Given the description of an element on the screen output the (x, y) to click on. 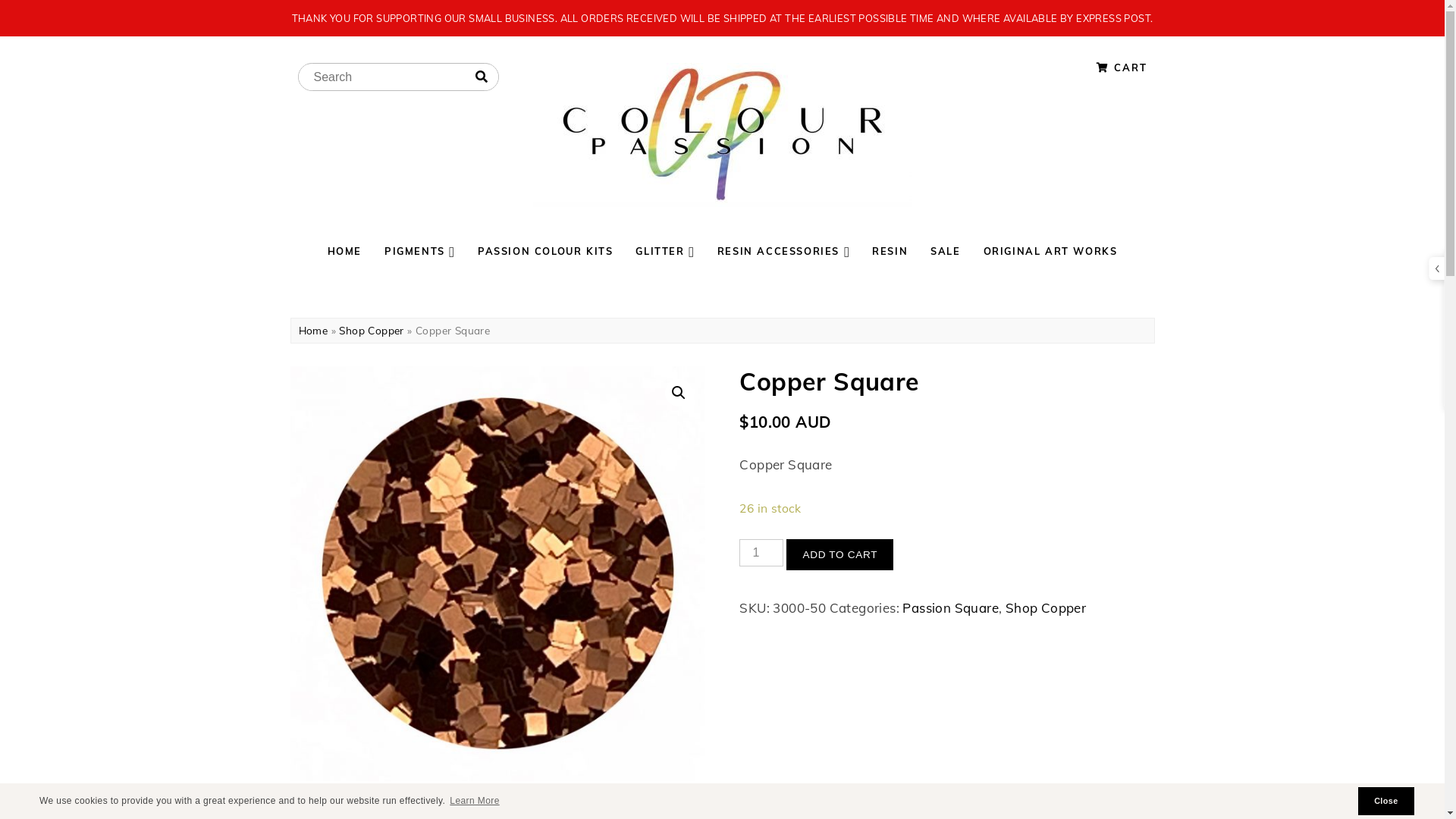
Shop Copper Element type: text (1045, 607)
Home Element type: text (313, 329)
HOME Element type: text (344, 250)
Learn More Element type: text (474, 801)
GLITTER Element type: text (664, 250)
PASSION COLOUR KITS Element type: text (545, 250)
CART Element type: text (1121, 67)
ORIGINAL ART WORKS Element type: text (1050, 250)
Copper Element type: hover (496, 573)
PIGMENTS Element type: text (419, 250)
RESIN ACCESSORIES Element type: text (783, 250)
ADD TO CART Element type: text (839, 555)
RESIN Element type: text (889, 250)
Close Element type: text (1386, 801)
Passion Square Element type: text (950, 607)
Shop Copper Element type: text (370, 329)
SALE Element type: text (945, 250)
